Given the description of an element on the screen output the (x, y) to click on. 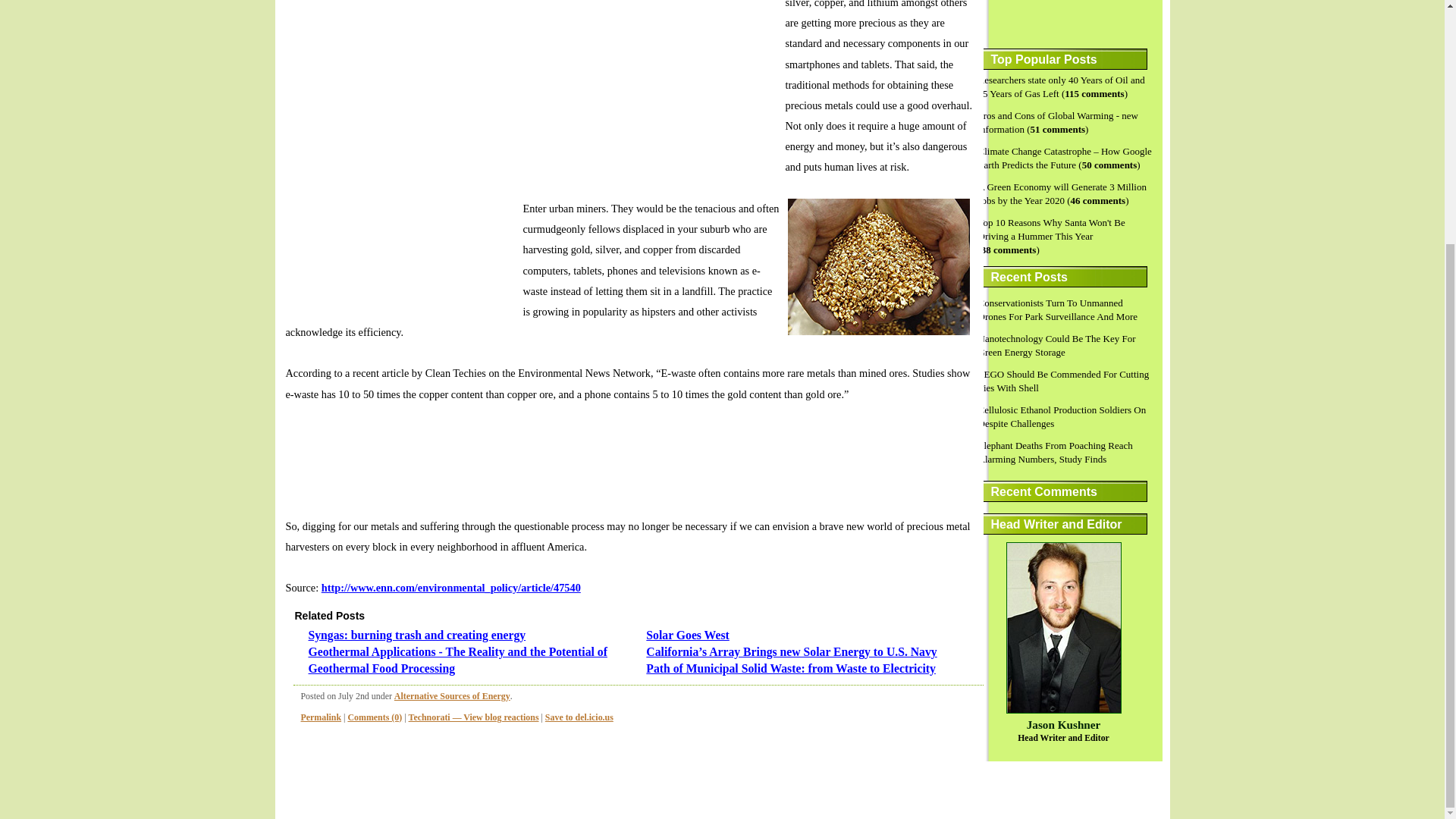
Path of Municipal Solid Waste: from Waste to Electricity (791, 667)
Solar Goes West (687, 634)
Alternative Sources of Energy (452, 696)
Syngas: burning trash and creating energy (416, 634)
